Given the description of an element on the screen output the (x, y) to click on. 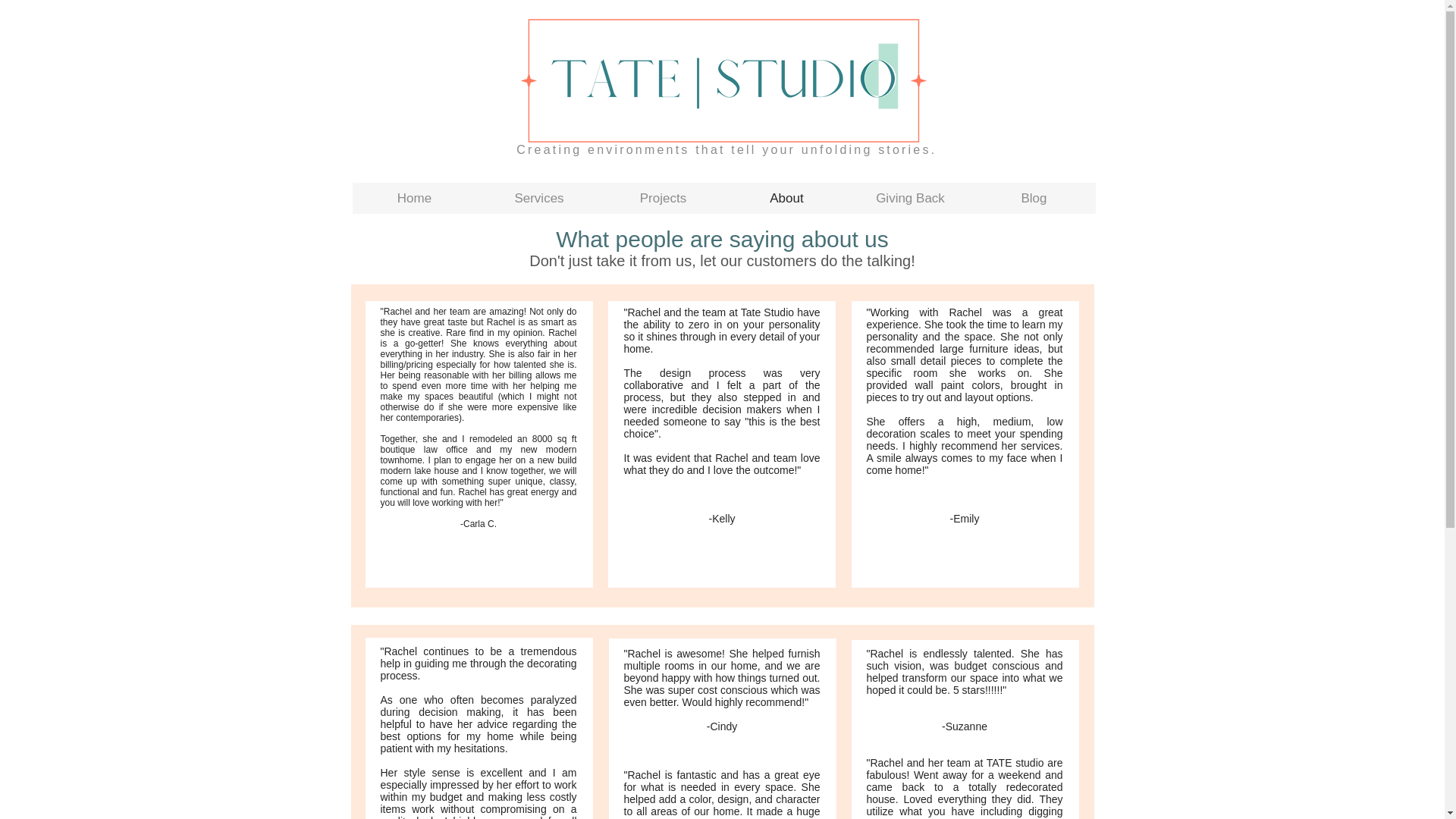
Home (414, 197)
 Creating environments that tell your unfolding stories. (724, 149)
About (786, 197)
Blog (1034, 197)
Projects (661, 197)
Giving Back (909, 197)
